Given the description of an element on the screen output the (x, y) to click on. 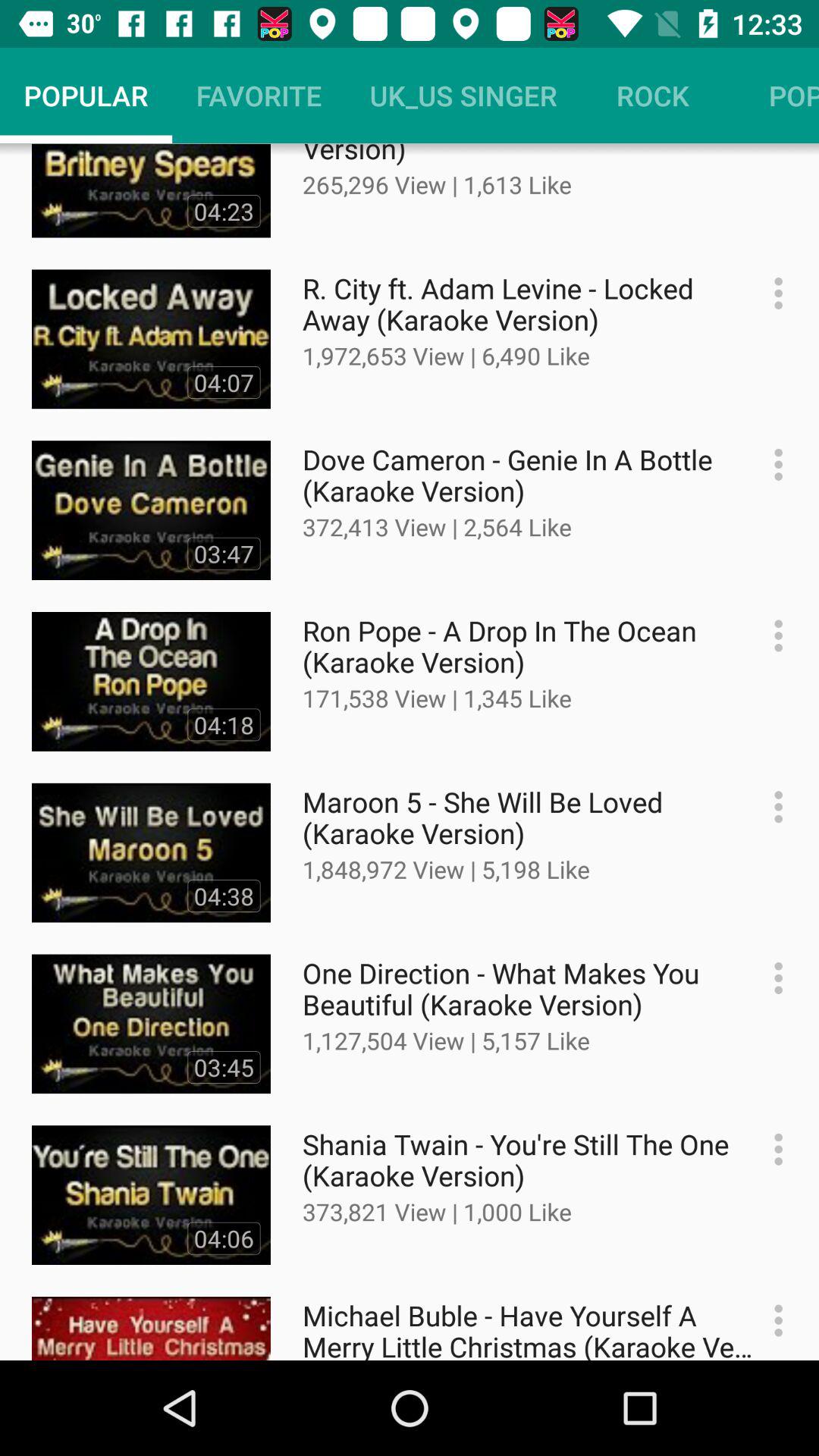
show options (770, 1149)
